Given the description of an element on the screen output the (x, y) to click on. 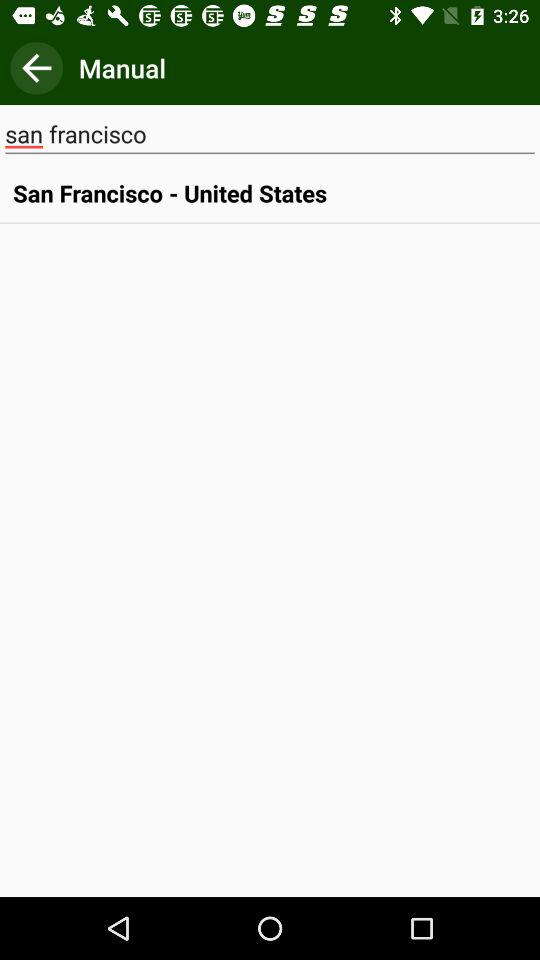
etc (36, 68)
